Given the description of an element on the screen output the (x, y) to click on. 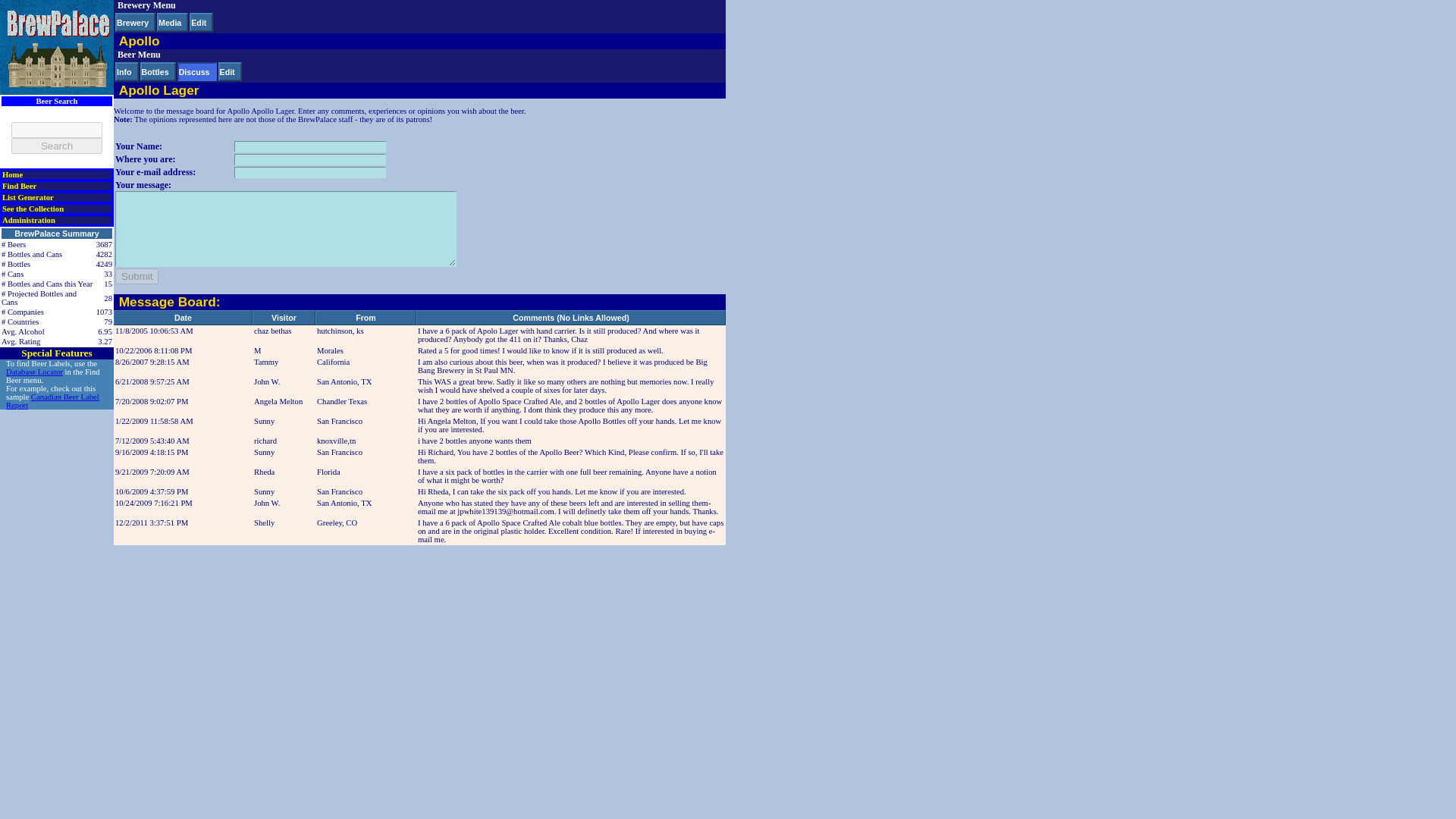
Discuss (194, 71)
Canadian Beer Label Report (52, 401)
See the Collection (33, 208)
Media (169, 22)
Edit (198, 22)
Find Beer (19, 185)
Bottles (154, 71)
Submit (136, 276)
Administration (28, 220)
Search (56, 145)
Info (124, 71)
Home (12, 174)
Database Locator (33, 371)
List Generator (27, 197)
Brewery (132, 22)
